Given the description of an element on the screen output the (x, y) to click on. 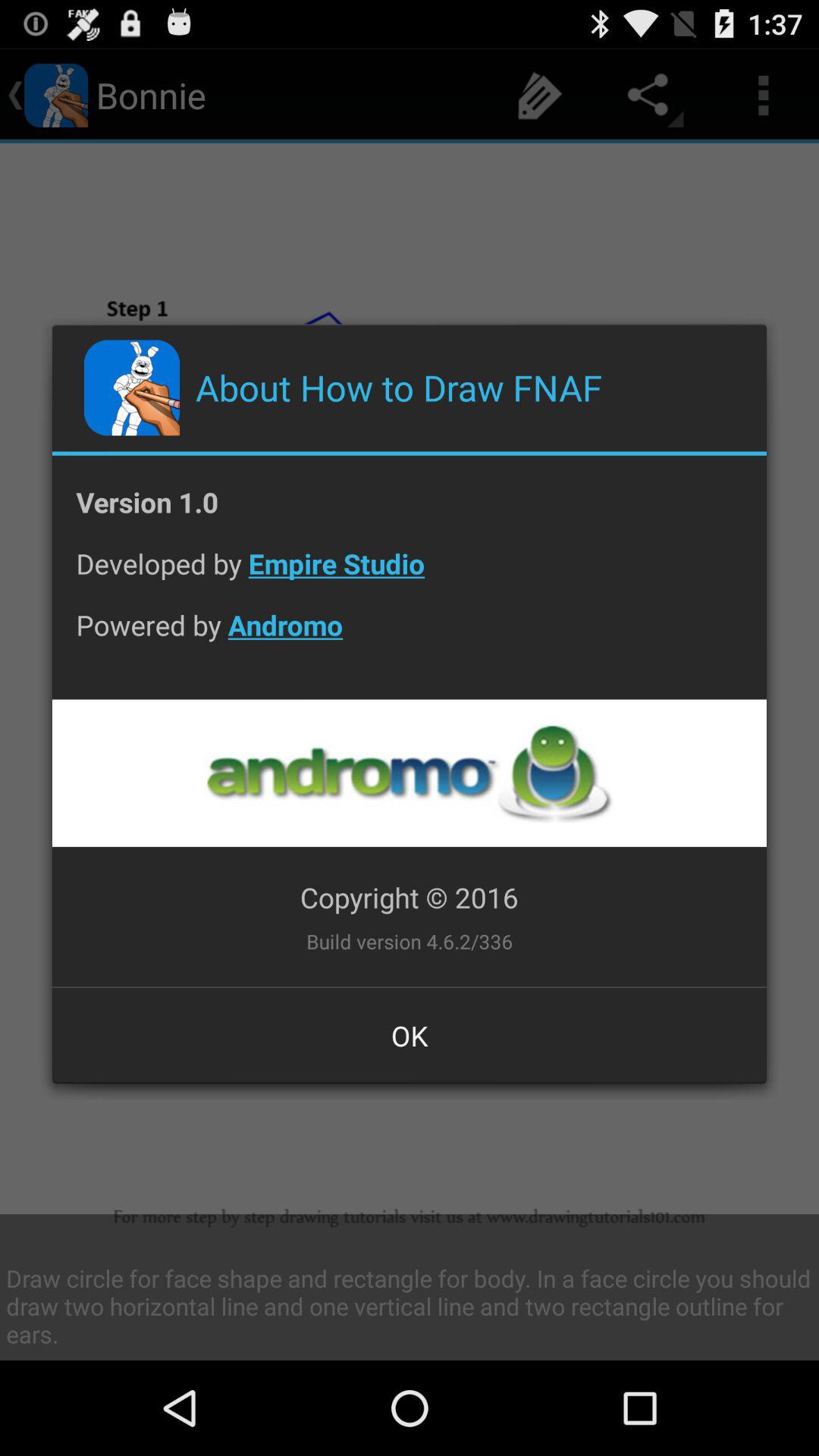
click the developed by empire item (409, 575)
